Given the description of an element on the screen output the (x, y) to click on. 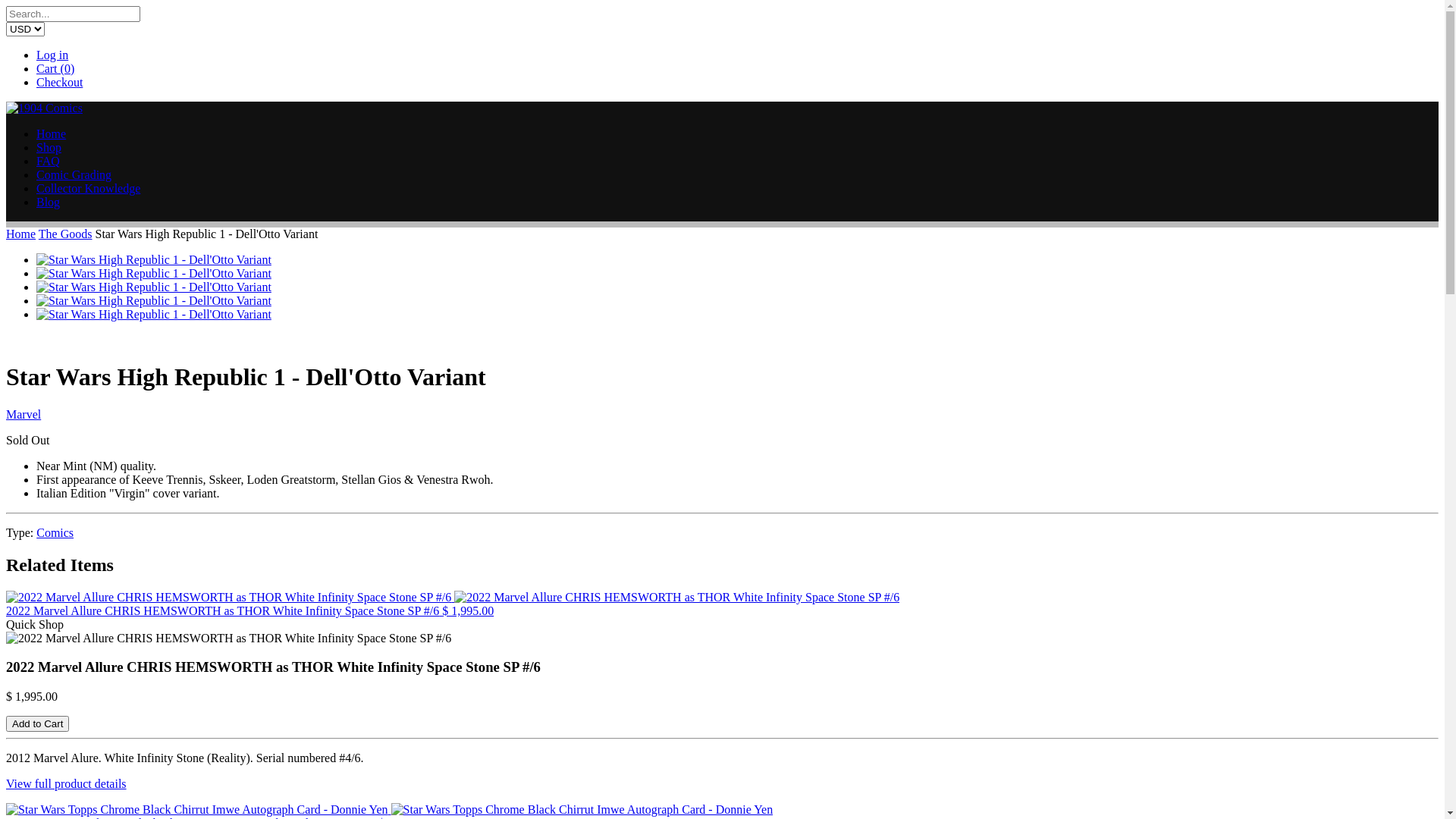
1904 Comics Element type: hover (44, 107)
Cart (0) Element type: text (55, 68)
Star Wars High Republic 1 - Dell'Otto Variant Element type: hover (153, 300)
Star Wars High Republic 1 - Dell'Otto Variant Element type: hover (153, 286)
Checkout Element type: text (59, 81)
View full product details Element type: text (66, 783)
Star Wars High Republic 1 - Dell'Otto Variant Element type: hover (153, 313)
Marvel Element type: text (23, 413)
The Goods Element type: text (65, 233)
Comic Grading Element type: text (73, 174)
Star Wars High Republic 1 - Dell'Otto Variant Element type: hover (153, 259)
Blog Element type: text (47, 201)
Home Element type: text (20, 233)
Log in Element type: text (52, 54)
Comics Element type: text (54, 532)
Add to Cart Element type: text (37, 723)
Shop Element type: text (48, 147)
FAQ Element type: text (47, 160)
Star Wars High Republic 1 - Dell'Otto Variant Element type: hover (153, 272)
Home Element type: text (50, 133)
Collector Knowledge Element type: text (88, 188)
